Given the description of an element on the screen output the (x, y) to click on. 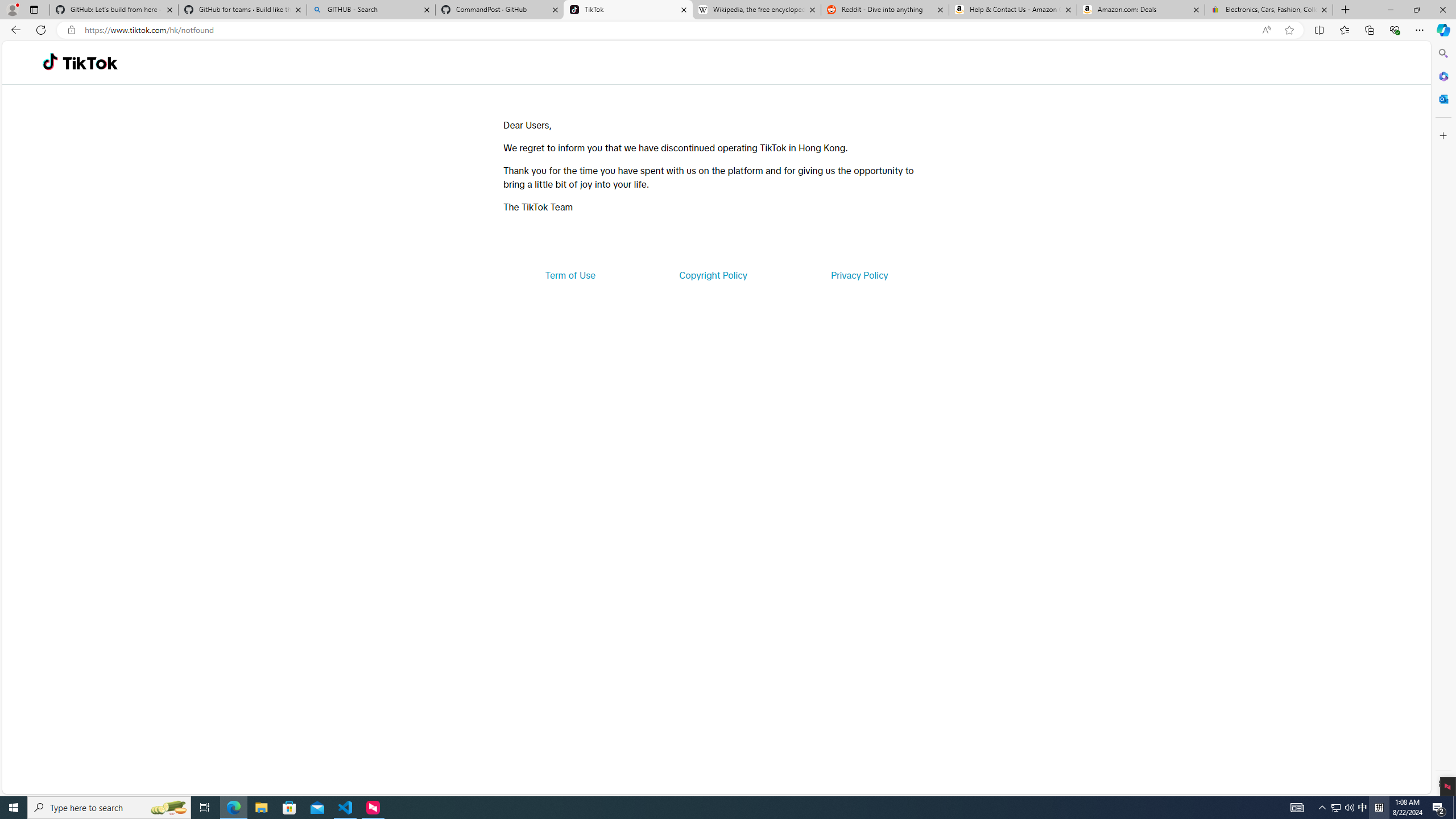
Wikipedia, the free encyclopedia (756, 9)
